Given the description of an element on the screen output the (x, y) to click on. 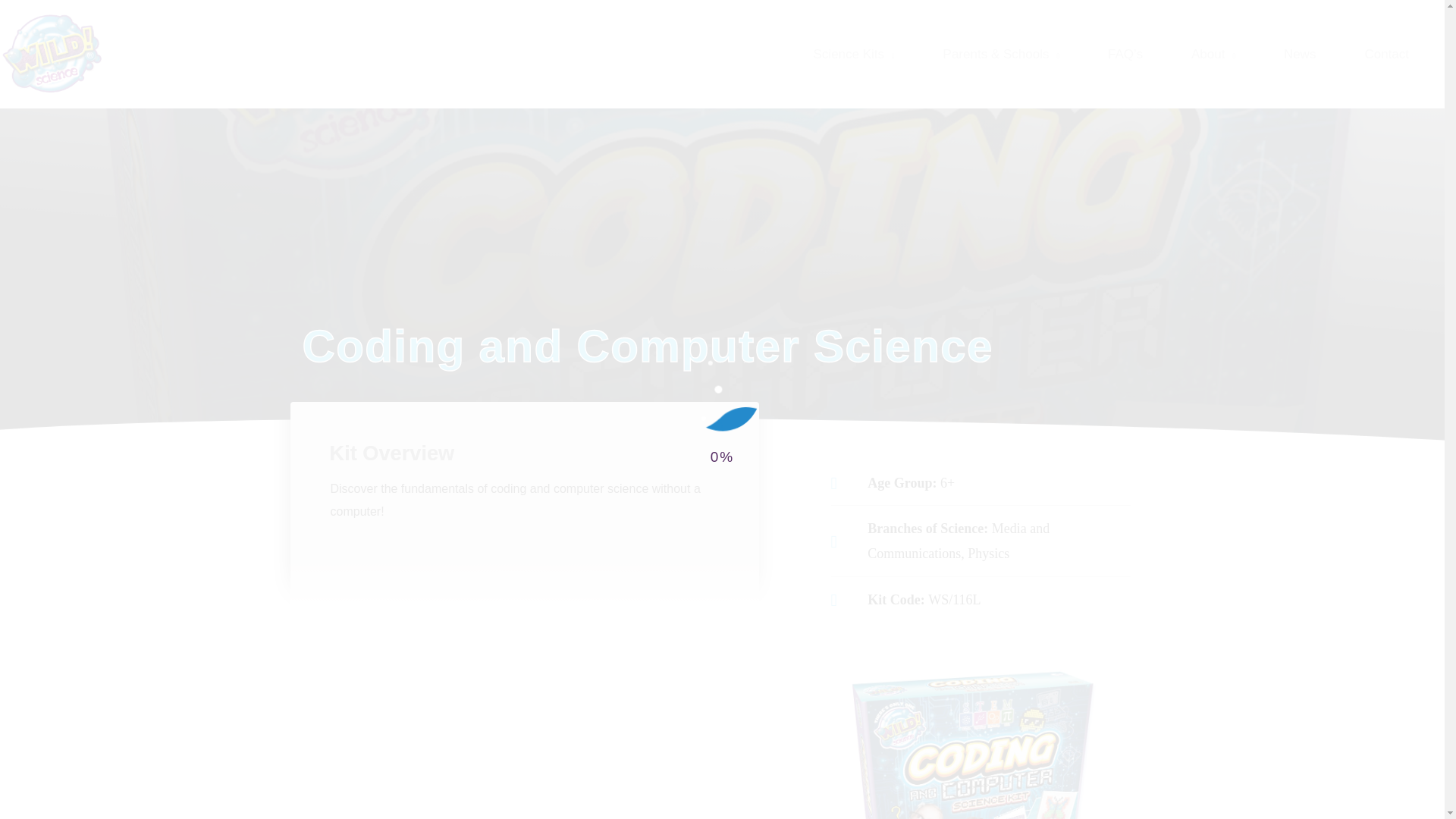
News (1311, 54)
Science Kits (865, 54)
About (1224, 54)
